Given the description of an element on the screen output the (x, y) to click on. 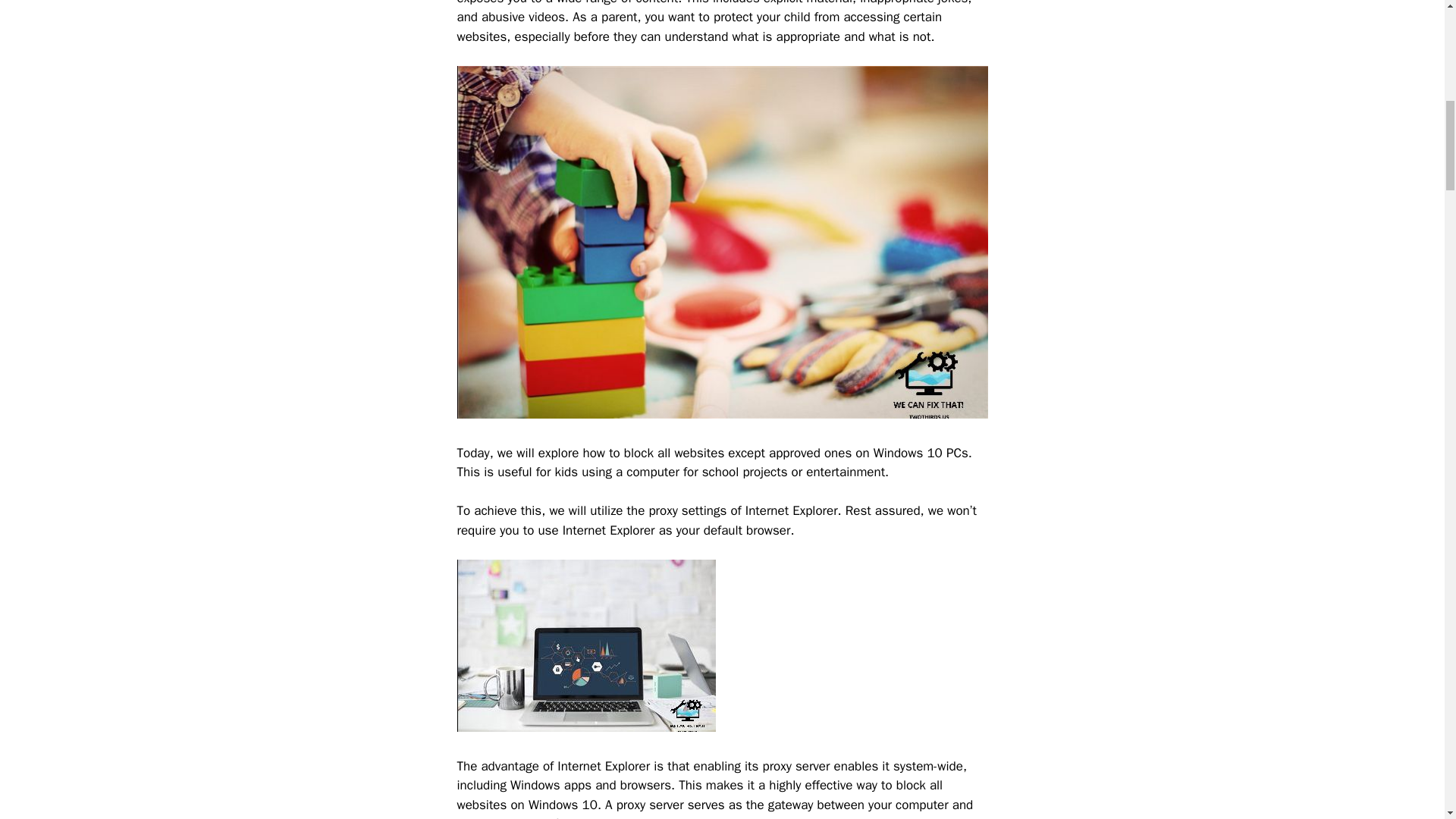
How to Block All Websites Except Approved Ones on Windows 10 (585, 645)
Scroll back to top (1406, 720)
